Given the description of an element on the screen output the (x, y) to click on. 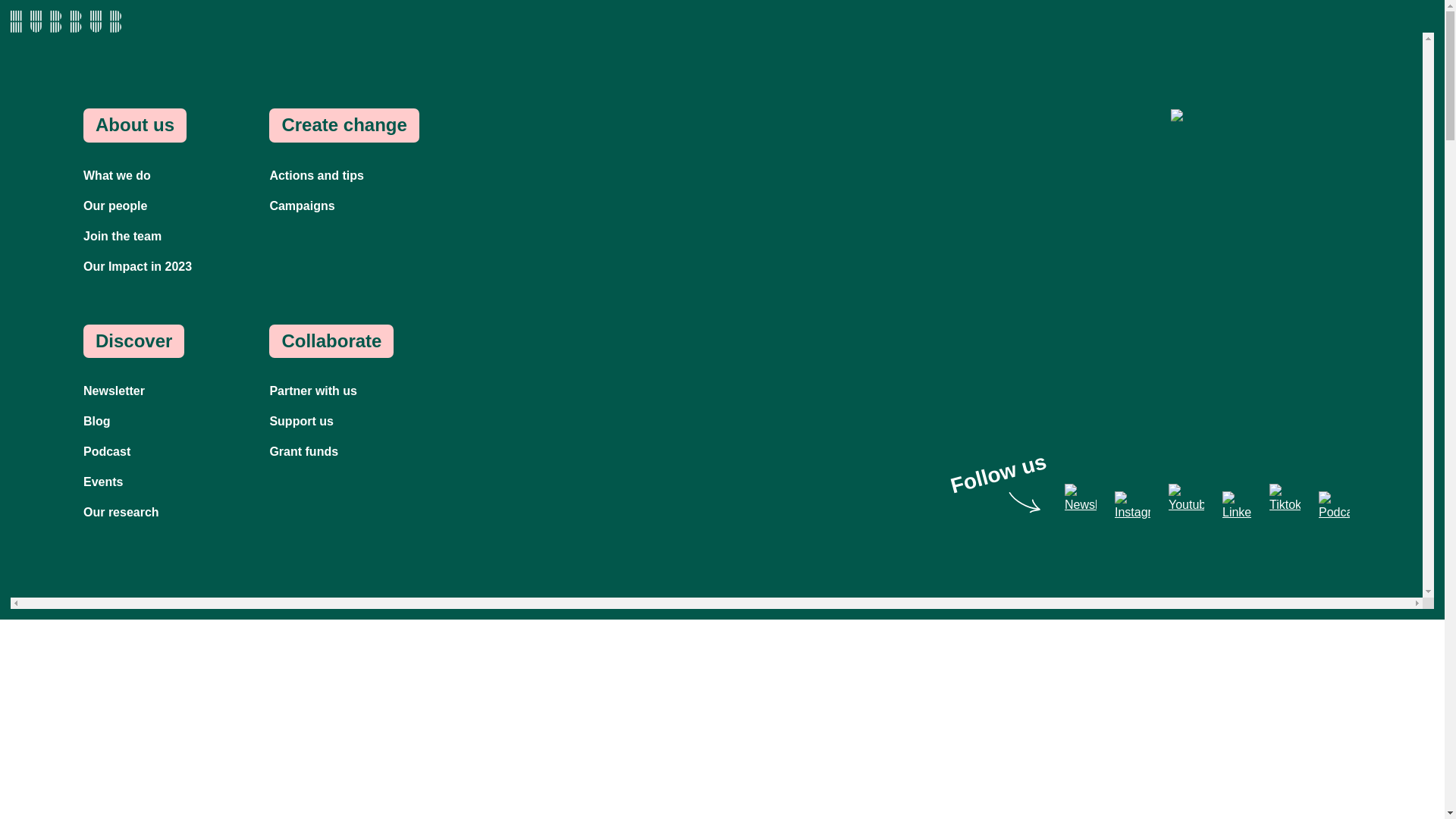
Tiktok (1284, 499)
Skip to content (65, 15)
Linkedin (1236, 506)
Our research (120, 512)
Campaigns (301, 205)
Hubbub (65, 21)
What we do (116, 174)
Our Impact in 2023 (137, 266)
Gift A Bundle (1250, 189)
Newsletter (113, 390)
